Given the description of an element on the screen output the (x, y) to click on. 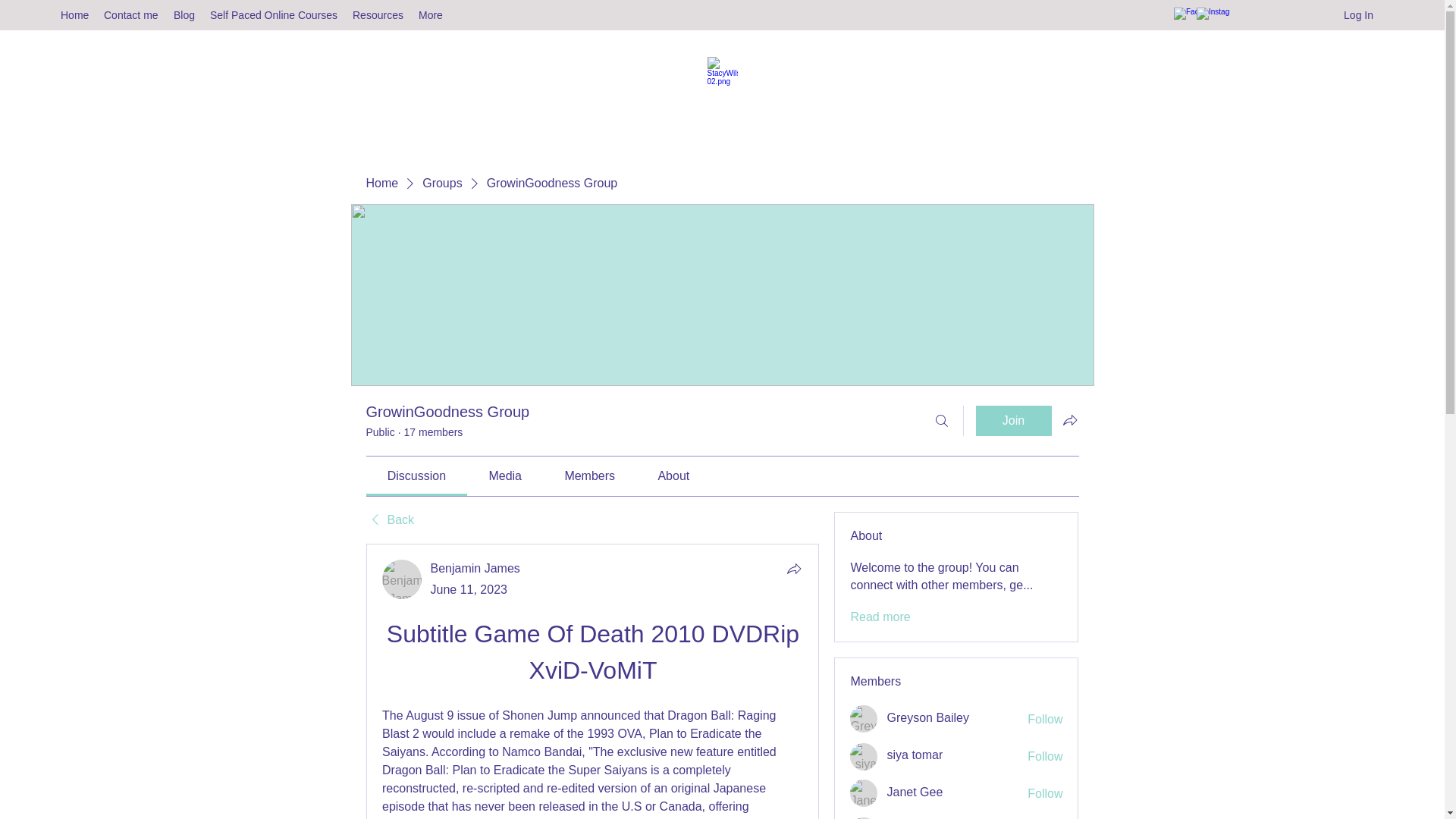
Groups (441, 183)
Follow (1044, 719)
Blog (183, 15)
Benjamin James (401, 578)
Greyson Bailey (927, 717)
Home (74, 15)
Stacy Wilson (863, 818)
siya tomar (914, 754)
Contact me (130, 15)
Resources (377, 15)
